Given the description of an element on the screen output the (x, y) to click on. 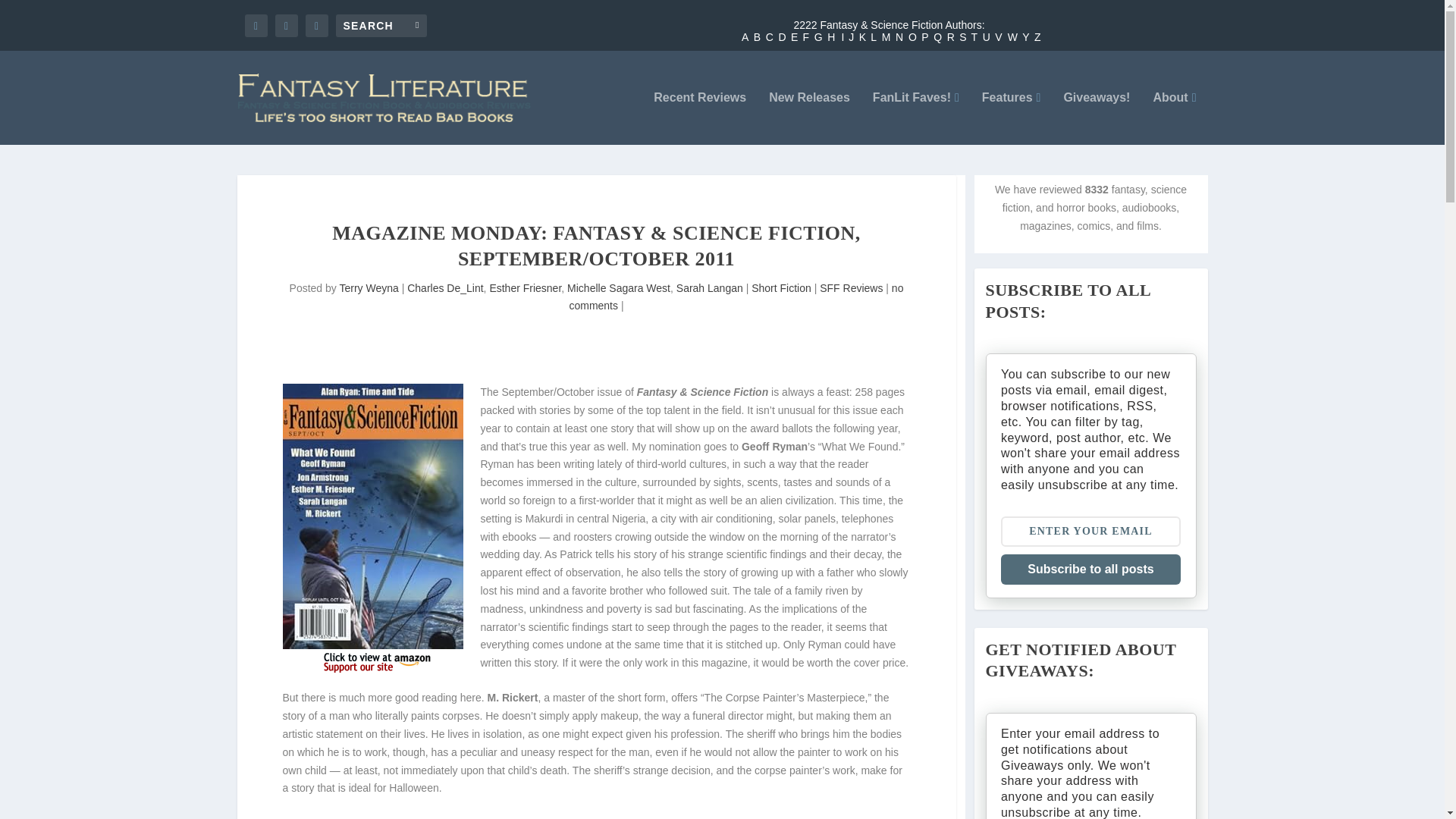
Posts by Terry Weyna (368, 287)
Search for: (380, 24)
FanLit Faves! (915, 117)
